Given the description of an element on the screen output the (x, y) to click on. 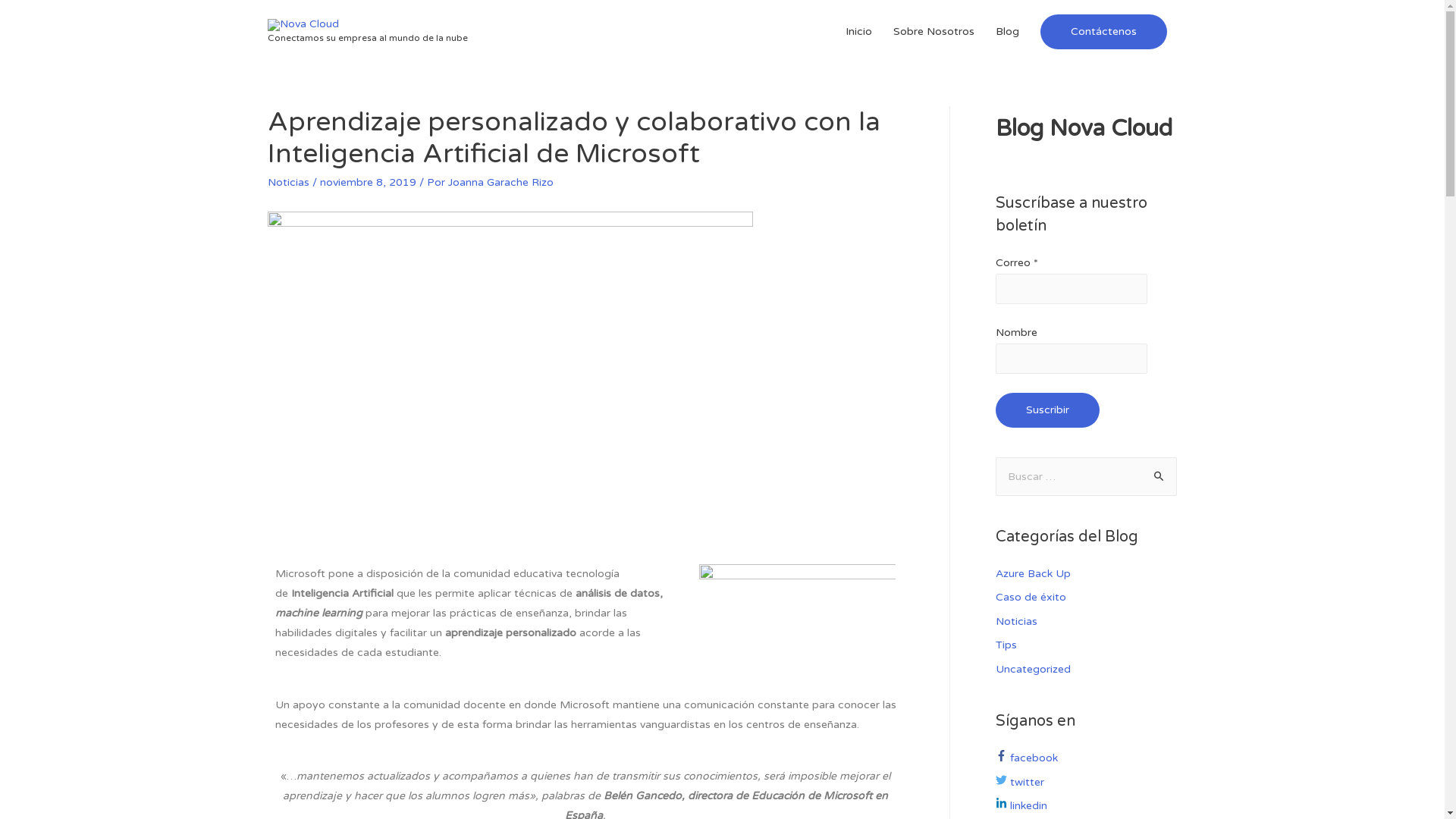
facebook Element type: text (1025, 757)
Azure Back Up Element type: text (1032, 573)
twitter Element type: text (1018, 781)
Suscribir Element type: text (1046, 409)
Noticias Element type: text (1015, 621)
Sobre Nosotros Element type: text (933, 31)
Tips Element type: text (1005, 644)
linkedin Element type: text (1020, 805)
Uncategorized Element type: text (1032, 668)
Inicio Element type: text (857, 31)
Noticias Element type: text (287, 181)
Buscar Element type: text (1159, 476)
Blog Element type: text (1006, 31)
Joanna Garache Rizo Element type: text (499, 181)
